Given the description of an element on the screen output the (x, y) to click on. 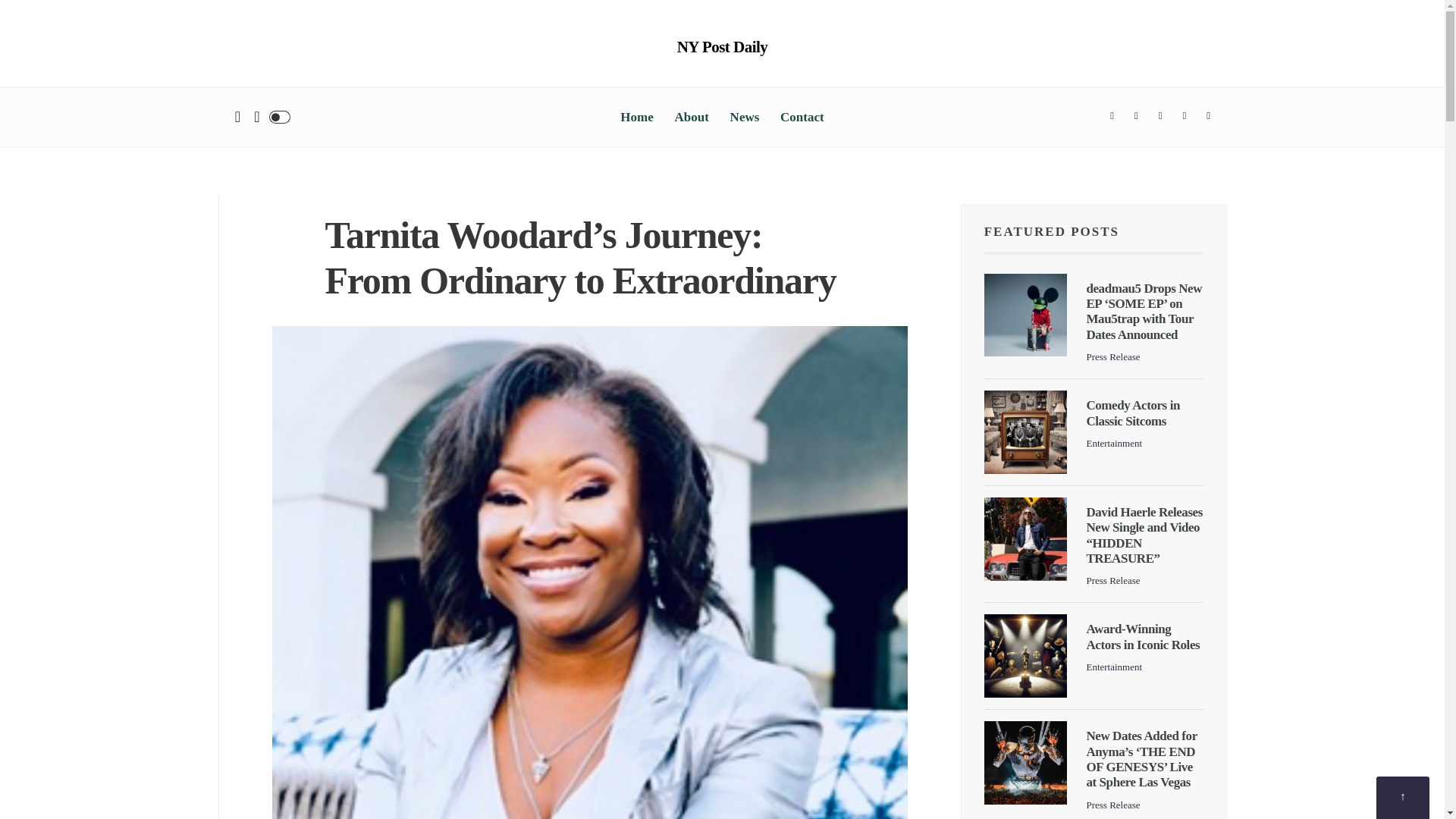
Comedy Actors in Classic Sitcoms (1132, 412)
NY Post Daily (722, 46)
About (692, 117)
Home (636, 117)
YouTube (1209, 116)
Pinterest (1184, 116)
Contact (802, 117)
Twitter (1136, 116)
Comedy Actors in Classic Sitcoms (1025, 432)
Facebook (1111, 116)
